Given the description of an element on the screen output the (x, y) to click on. 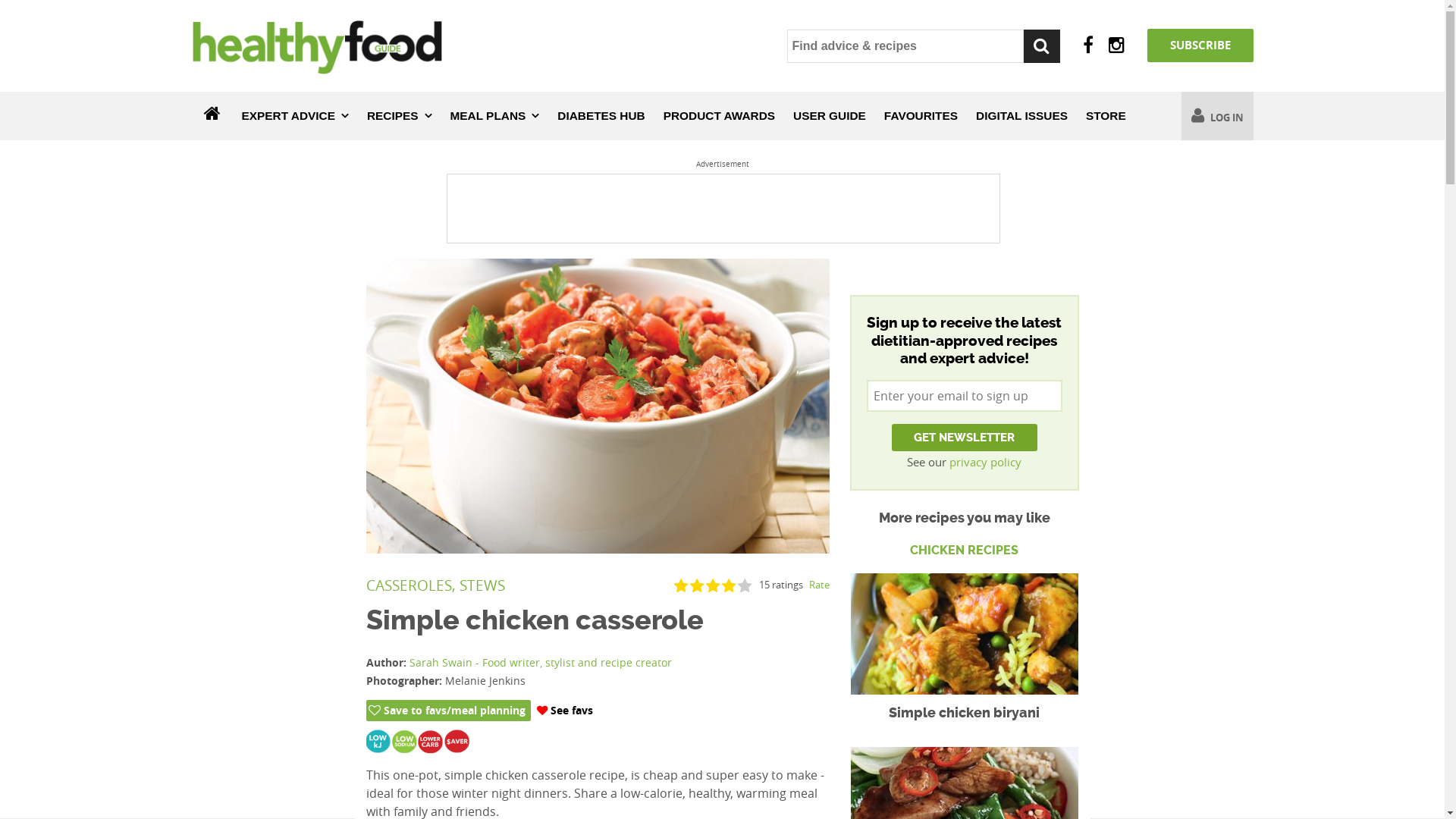
RECIPES Element type: text (399, 115)
See favs Element type: text (564, 710)
FAVOURITES Element type: text (920, 115)
STORE Element type: text (1105, 115)
DIGITAL ISSUES Element type: text (1021, 115)
Rate Element type: text (815, 584)
Click for more Low sodium recipes Element type: hover (409, 745)
EXPERT ADVICE Element type: text (294, 115)
MEAL PLANS Element type: text (495, 115)
PRODUCT AWARDS Element type: text (719, 115)
Get Newsletter Element type: text (964, 437)
Follow us on Instagram Element type: hover (1116, 45)
Simple chicken biryani Element type: hover (964, 633)
Click for more Low kilojoule recipes Element type: hover (382, 745)
USER GUIDE Element type: text (829, 115)
Save to favs/meal planning Element type: text (447, 710)
Follow us on Facebook Element type: hover (1087, 45)
Simple chicken casserole Element type: hover (596, 405)
SUBSCRIBE Element type: text (1199, 45)
LOG IN Element type: text (1217, 115)
Click for more $AVER (low cost) recipes Element type: hover (461, 745)
Sarah Swain - Food writer, stylist and recipe creator Element type: text (540, 662)
Simple chicken biryani Element type: text (963, 712)
privacy policy Element type: text (985, 461)
CHICKEN RECIPES Element type: text (963, 638)
CASSEROLES, STEWS Element type: text (434, 585)
Click for more Lower carb recipes Element type: hover (434, 745)
DIABETES HUB Element type: text (600, 115)
